Given the description of an element on the screen output the (x, y) to click on. 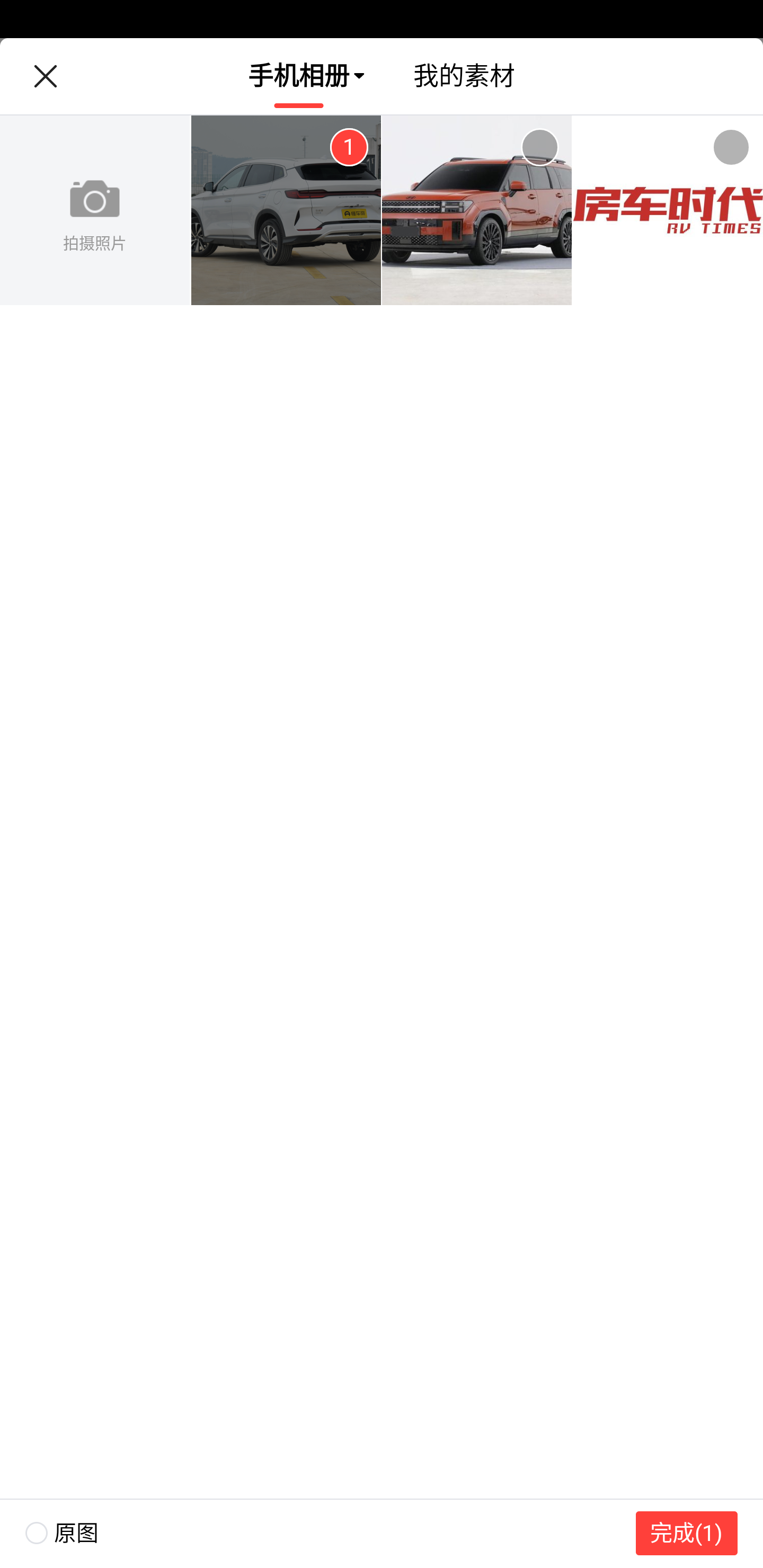
返回 (44, 75)
手机相册 (298, 75)
我的素材 (464, 75)
拍摄照片 (94, 210)
图片1 (285, 210)
已选中1 1 (348, 147)
图片2 (476, 210)
未选中 (539, 147)
图片3 (668, 210)
未选中 (731, 147)
原图 (49, 1533)
完成(1) 完成 (1) (686, 1533)
